Given the description of an element on the screen output the (x, y) to click on. 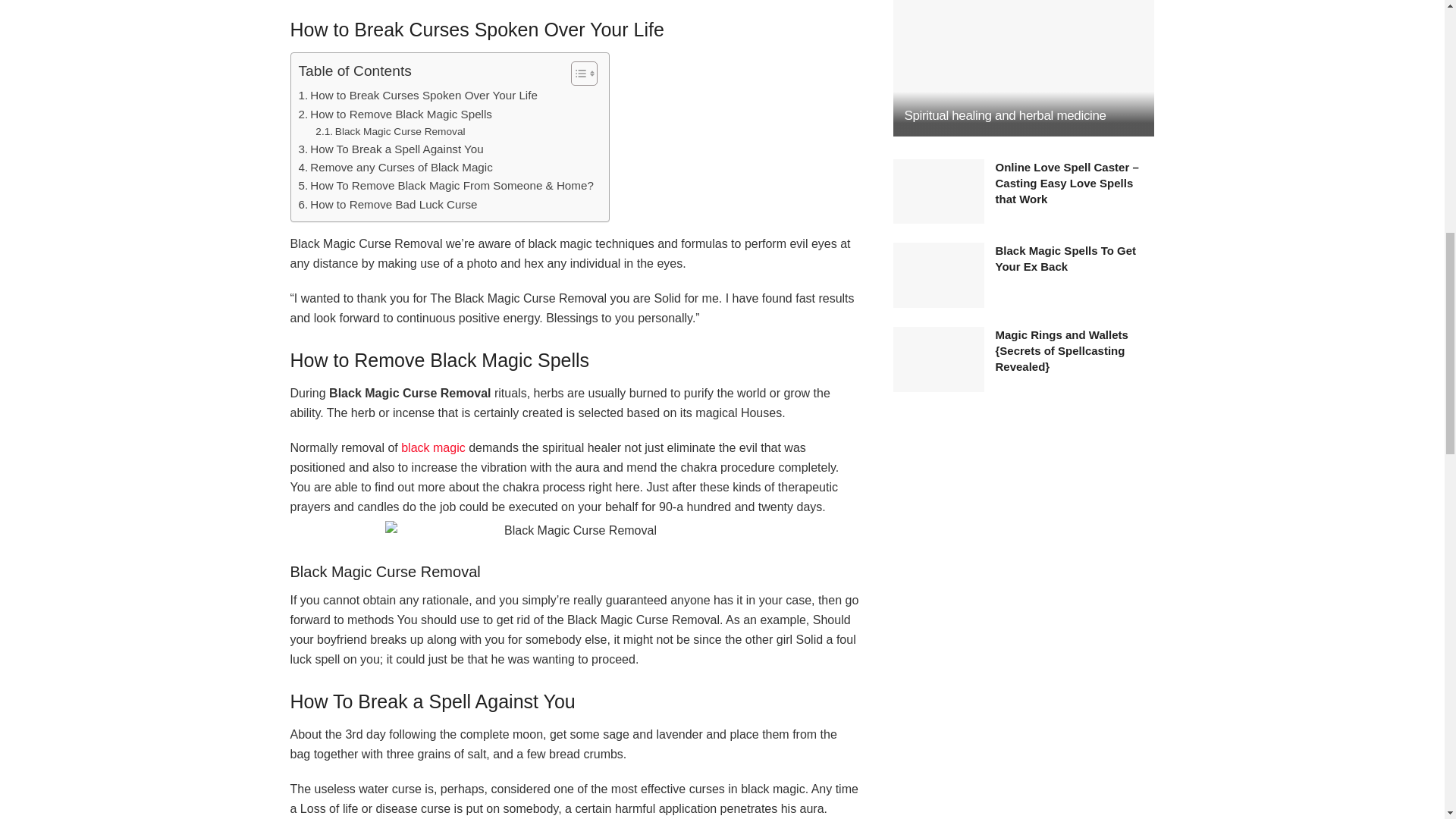
Black Magic Curse Removal (389, 131)
Black Magic Curse Removal (574, 530)
How to Remove Black Magic Spells (395, 114)
How to Remove Bad Luck Curse (387, 204)
How to Break Curses Spoken Over Your Life (417, 95)
Remove any Curses of Black Magic (395, 167)
How To Break a Spell Against You (390, 149)
